Given the description of an element on the screen output the (x, y) to click on. 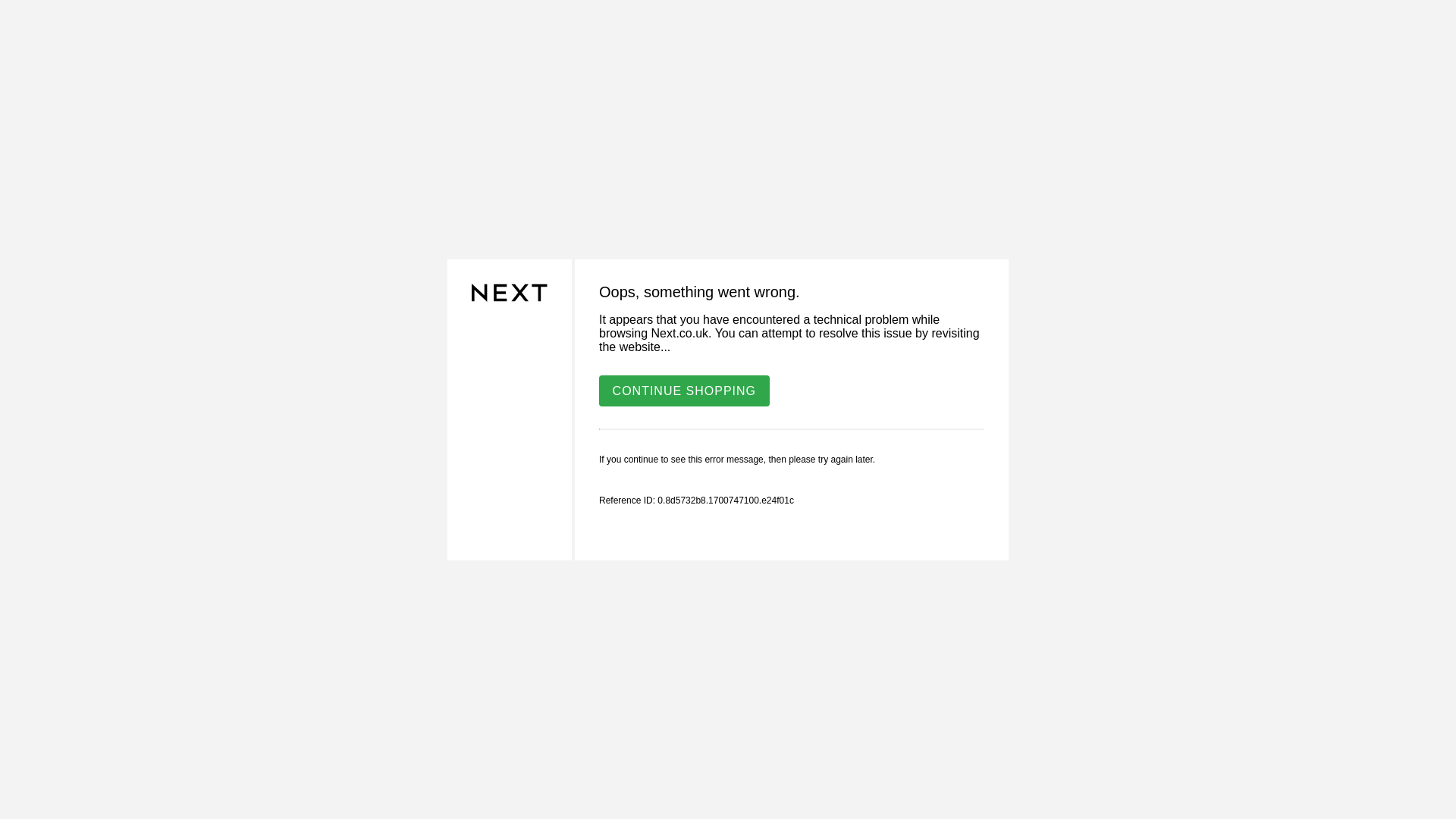
CONTINUE SHOPPING Element type: text (684, 389)
